Given the description of an element on the screen output the (x, y) to click on. 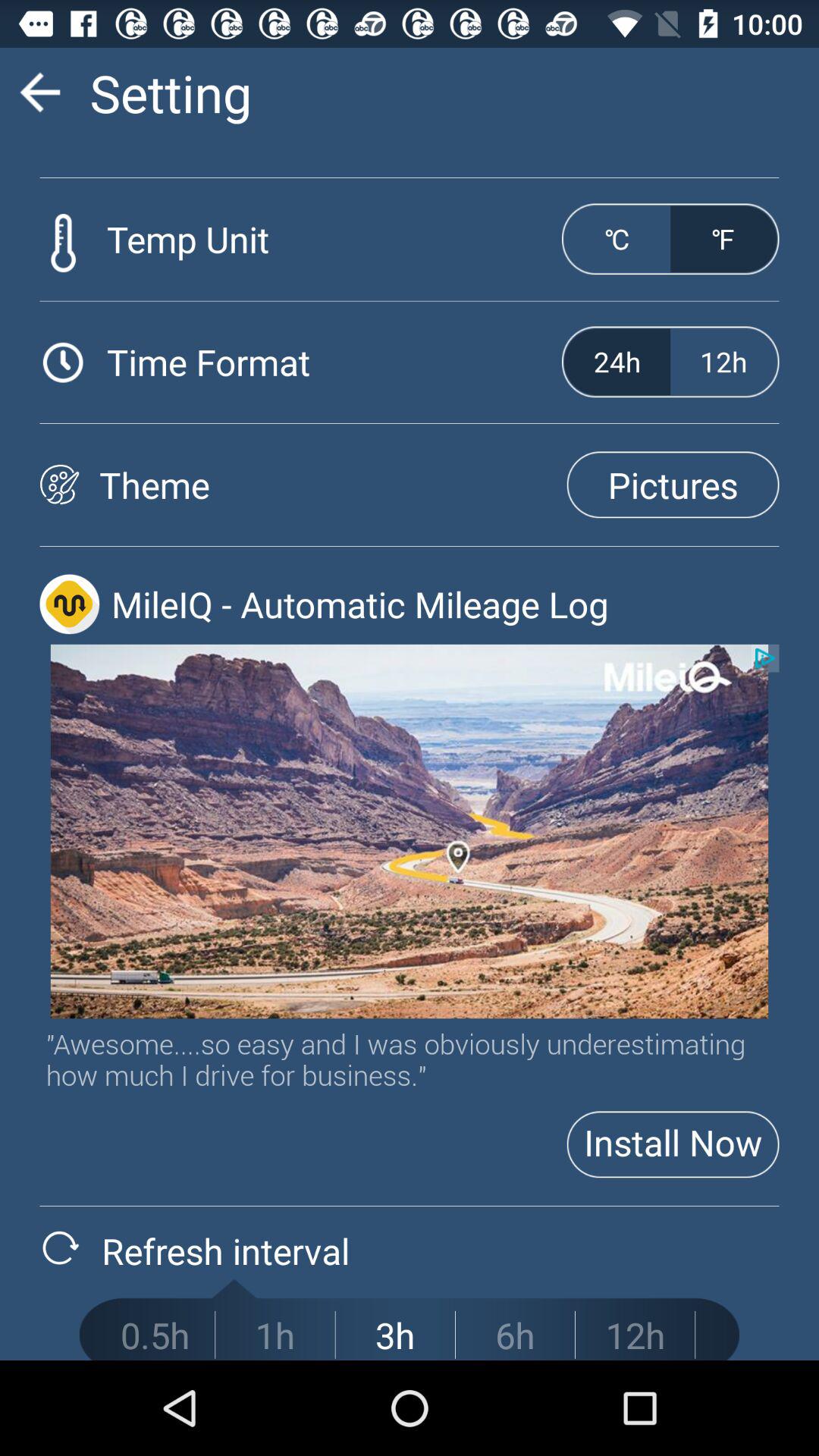
turn off 3h item (395, 1334)
